Given the description of an element on the screen output the (x, y) to click on. 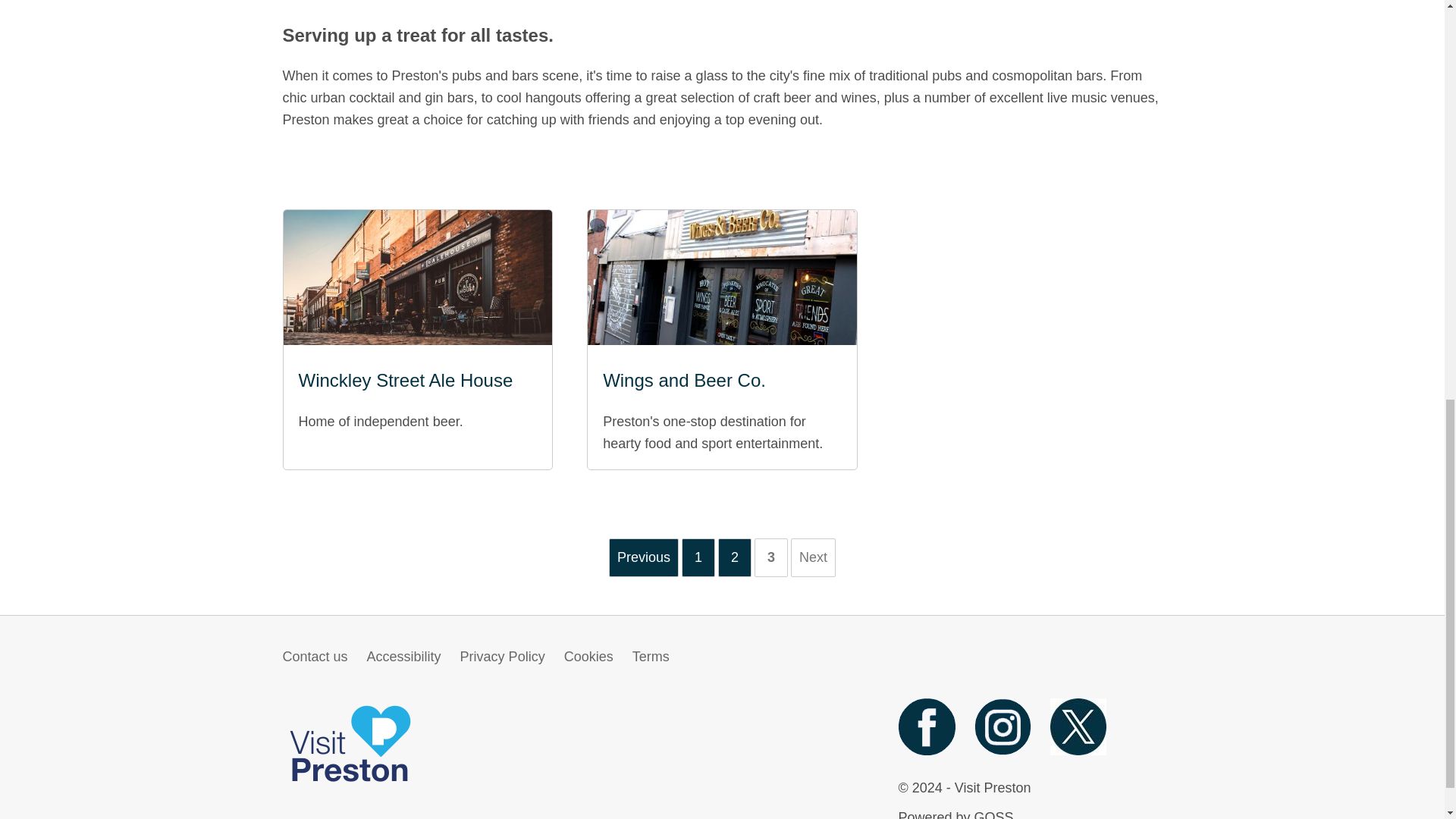
Cookies (588, 656)
Privacy Policy (502, 656)
Terms (650, 656)
Visit Preston Facebook : opens on new browser window or tab (926, 750)
Visit Preston Instagram : opens on new browser window or tab (1002, 750)
Accessibility (403, 656)
Visit Preston X : opens on new browser window or tab (1077, 750)
Wings and Beer Co. (721, 380)
2 (734, 557)
Winckley Street Ale House (417, 380)
Contact us (314, 656)
1 (697, 557)
